Given the description of an element on the screen output the (x, y) to click on. 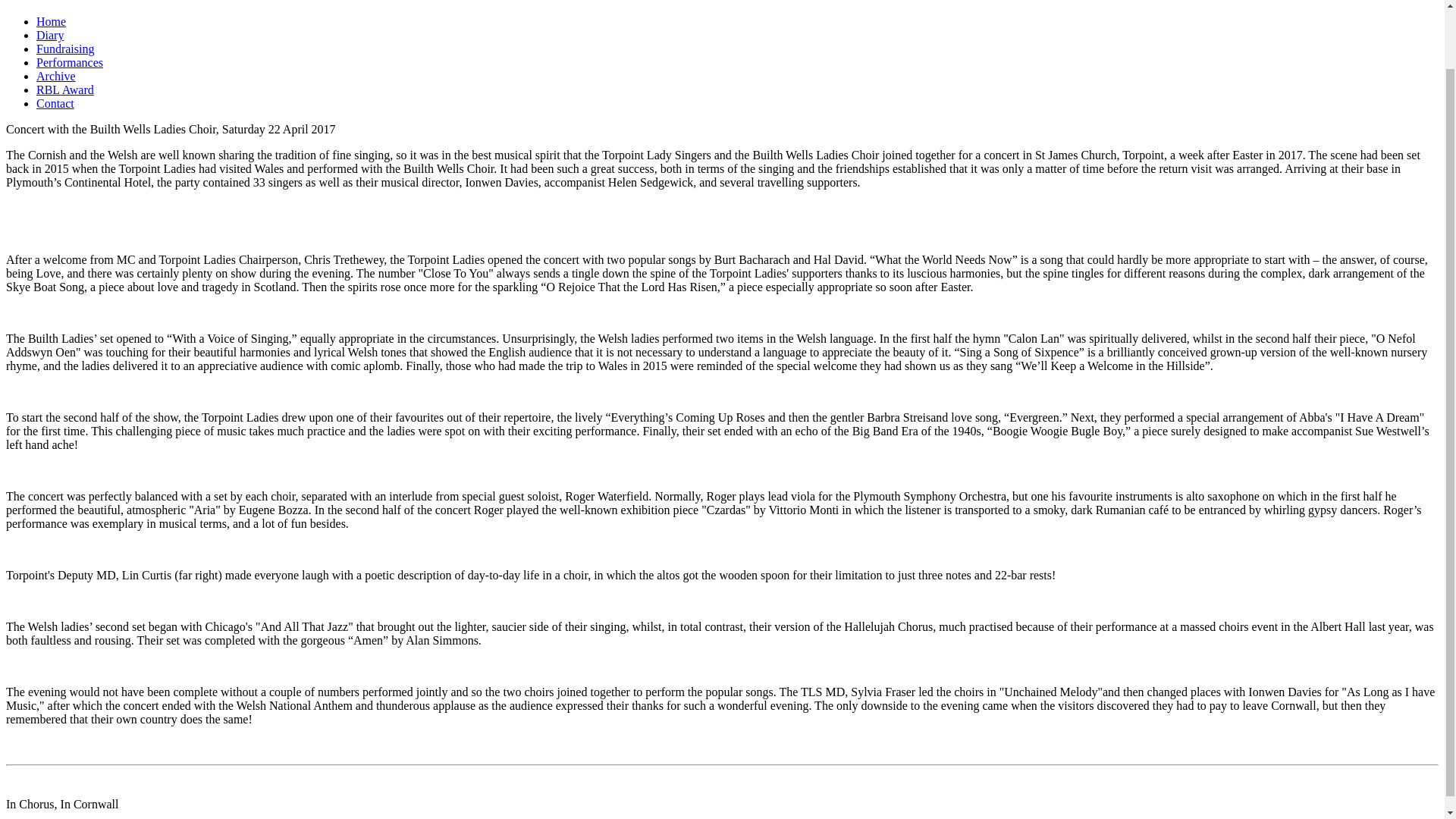
Fundraising Achievements of the Torpoint Lady Singers (65, 48)
Fundraising (65, 48)
RBL Award (65, 89)
Home (50, 21)
Contact the Torpoint Lady Singers (55, 103)
Contact (55, 103)
Archive (55, 75)
Homepage for the Towpoint Lady Singers (50, 21)
